Given the description of an element on the screen output the (x, y) to click on. 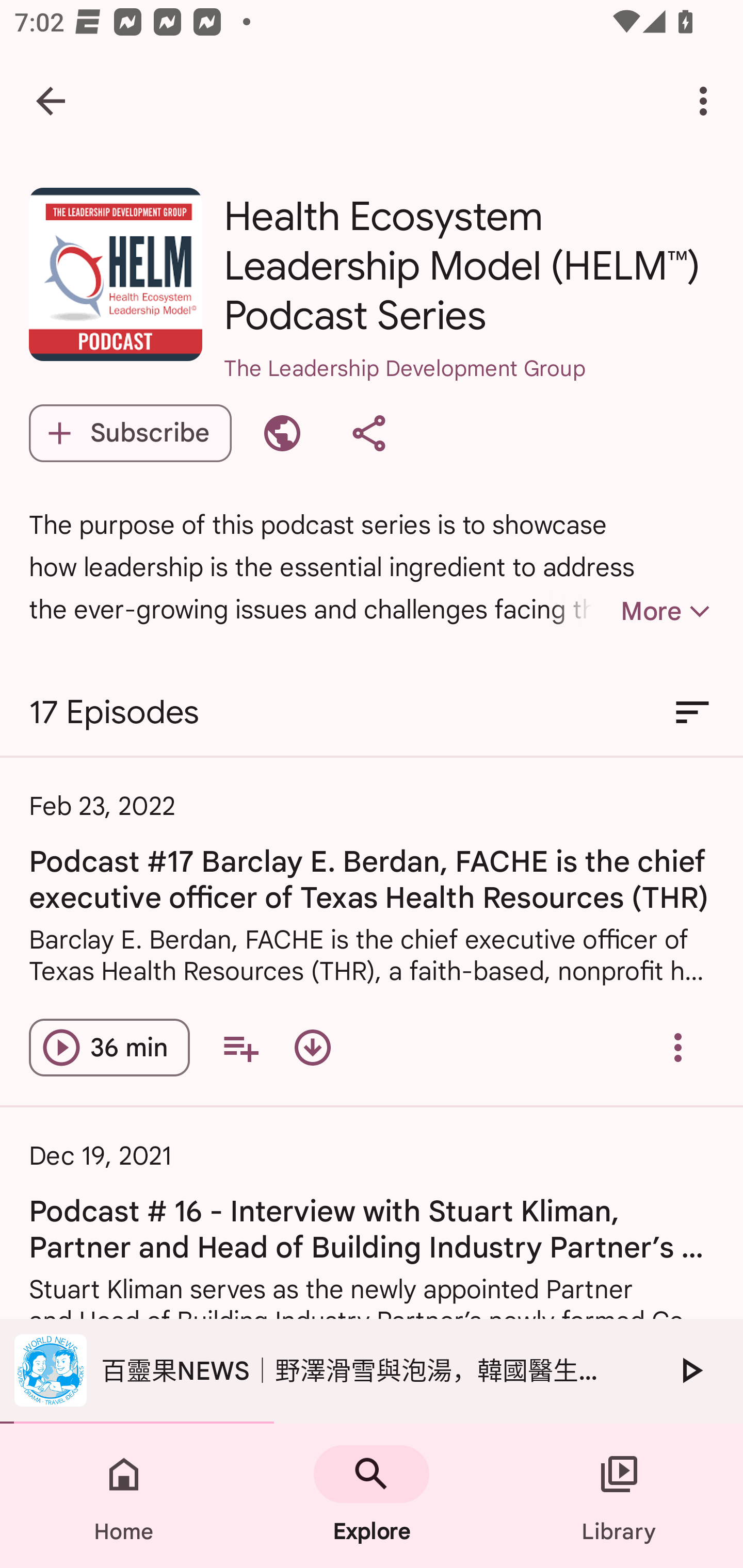
Navigate up (50, 101)
More options (706, 101)
The Leadership Development Group (468, 395)
Subscribe (129, 433)
Visit website (282, 433)
Share (368, 433)
More (631, 610)
Sort (692, 712)
Add to your queue (240, 1047)
Download episode (312, 1047)
Overflow menu (677, 1047)
Play (690, 1370)
Home (123, 1495)
Library (619, 1495)
